Given the description of an element on the screen output the (x, y) to click on. 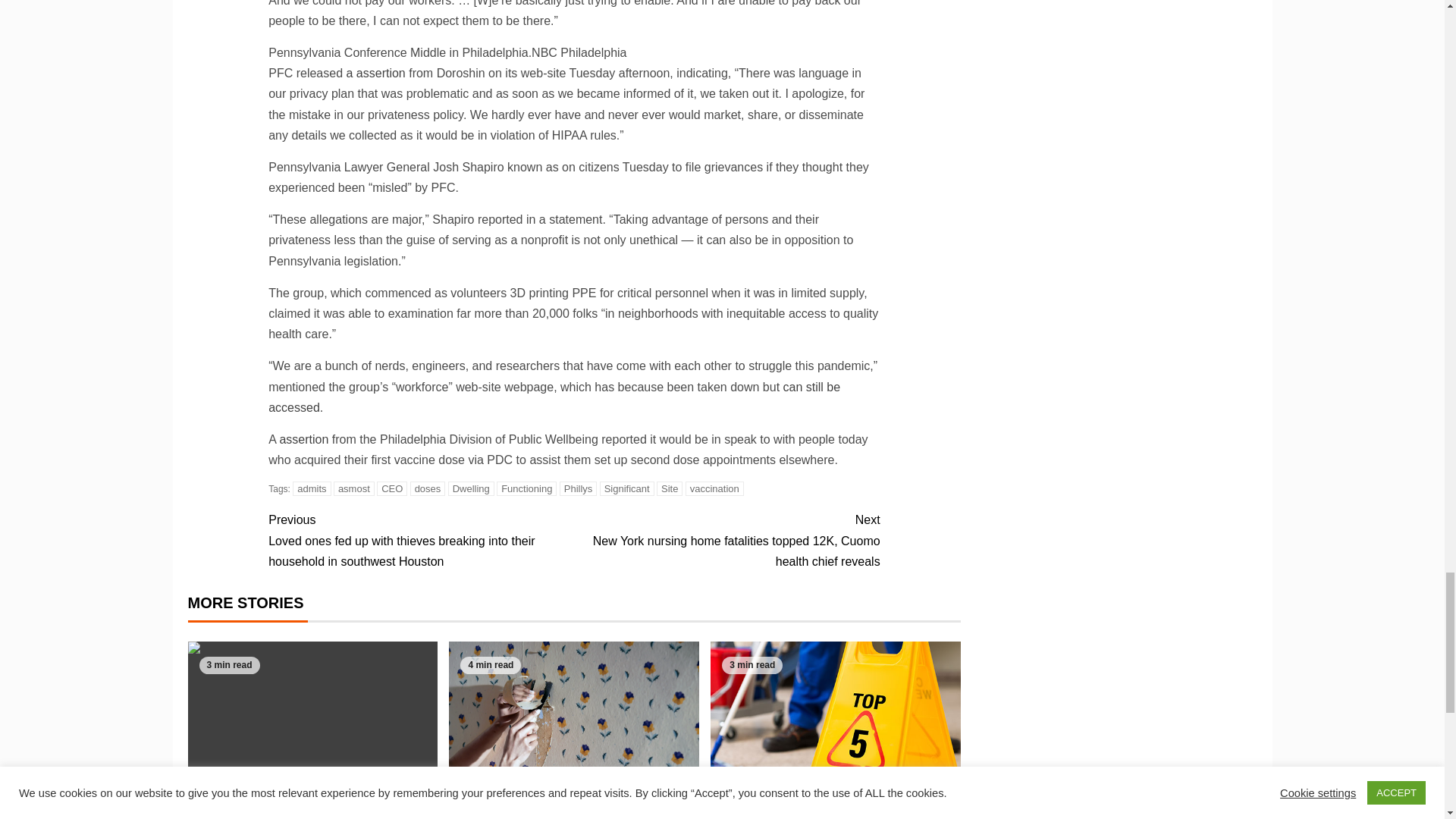
Understanding the Impact of a Slab Leak (312, 726)
a assertion (375, 72)
